Given the description of an element on the screen output the (x, y) to click on. 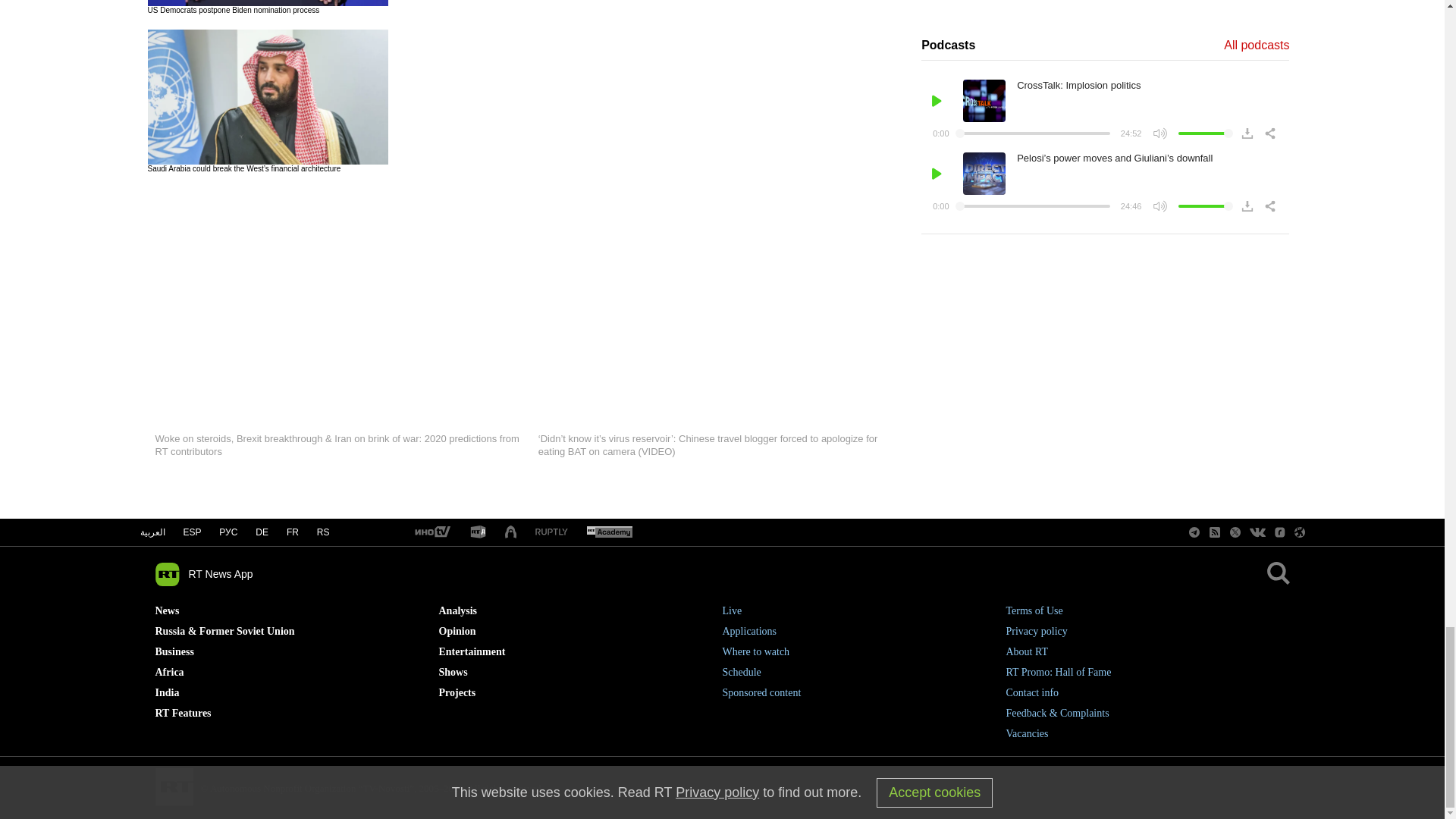
RT  (431, 532)
RT  (478, 532)
RT  (608, 532)
RT  (551, 532)
